Given the description of an element on the screen output the (x, y) to click on. 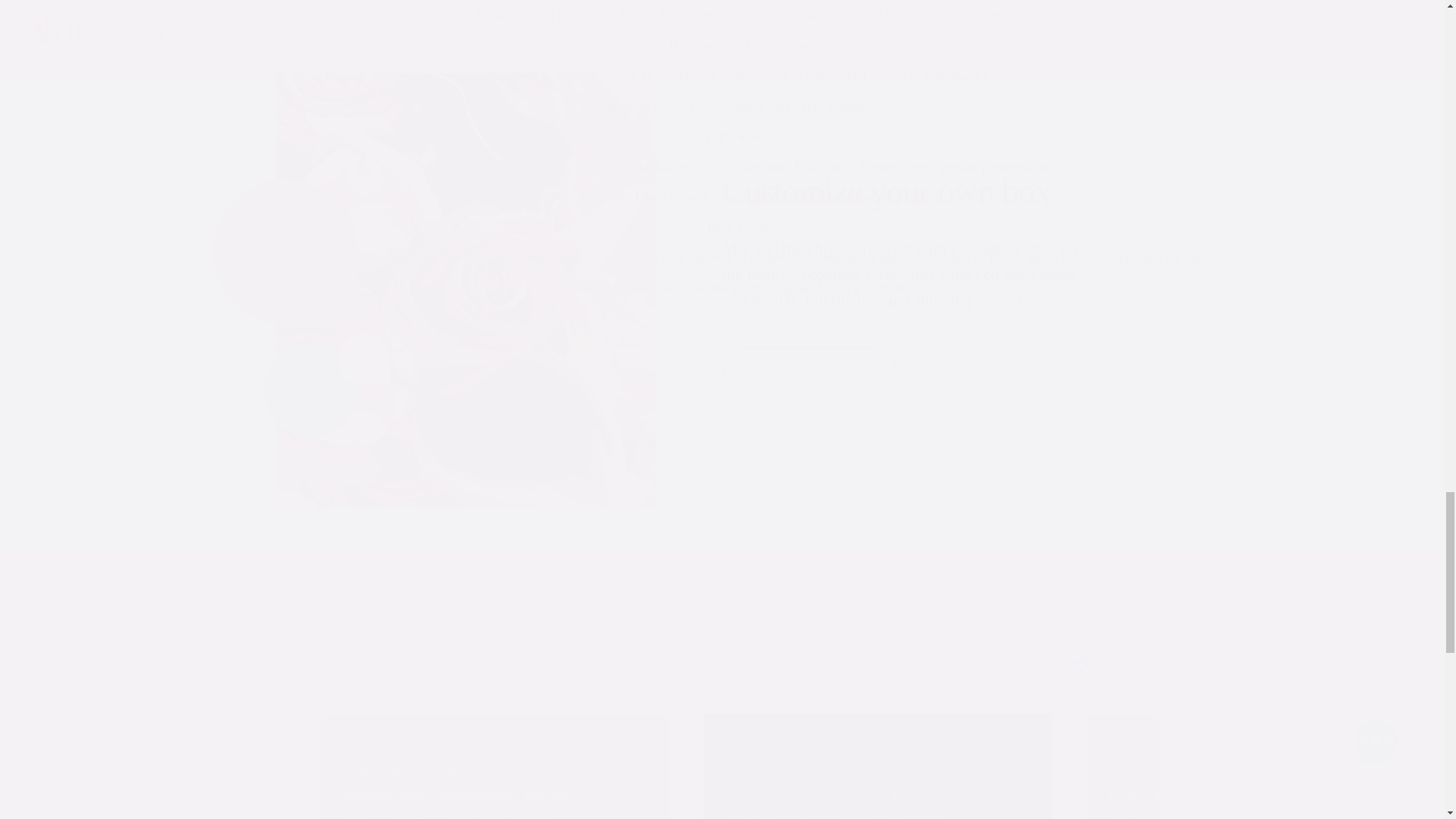
Start shopping (809, 370)
